Given the description of an element on the screen output the (x, y) to click on. 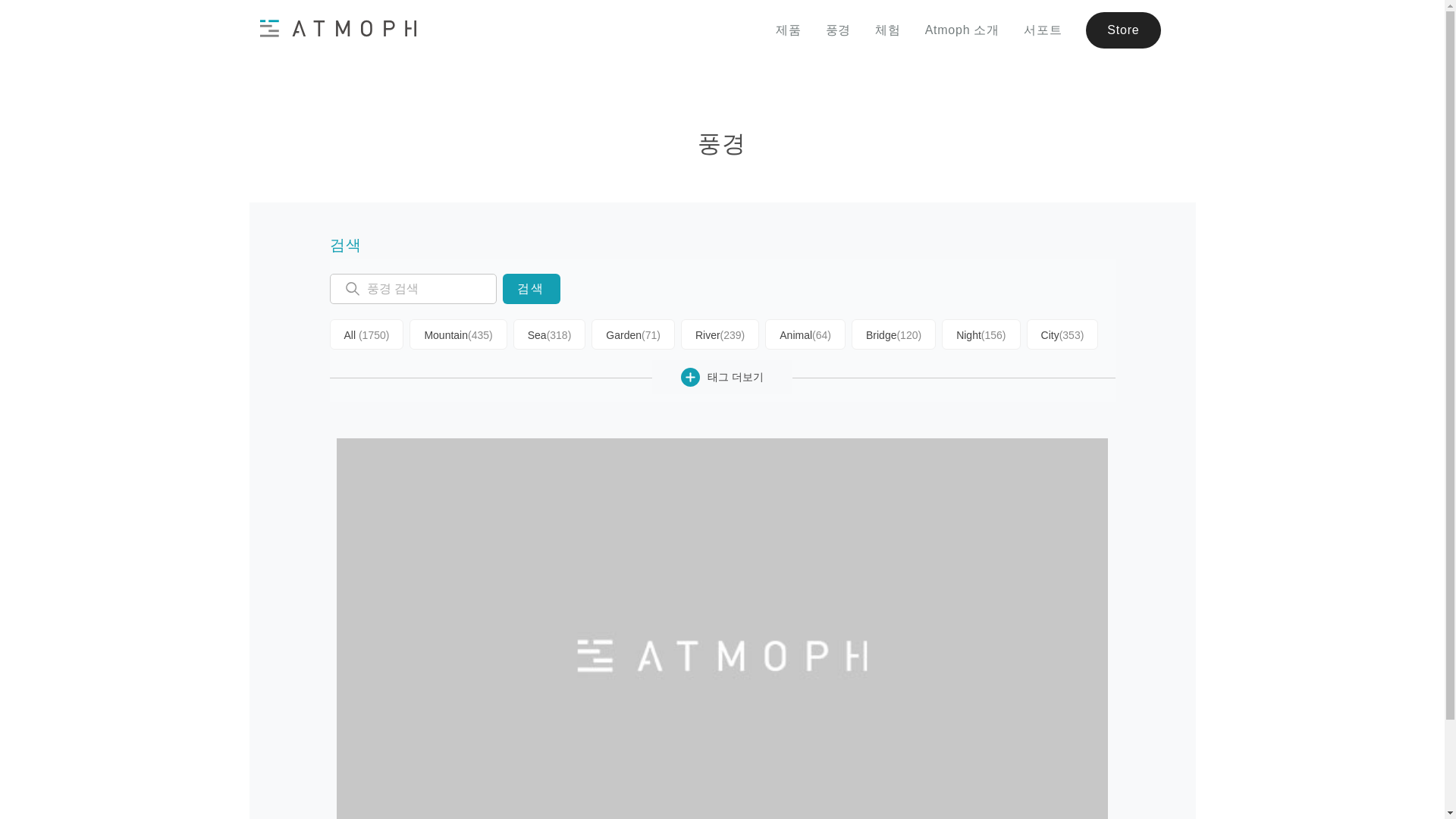
Store (1123, 30)
